Given the description of an element on the screen output the (x, y) to click on. 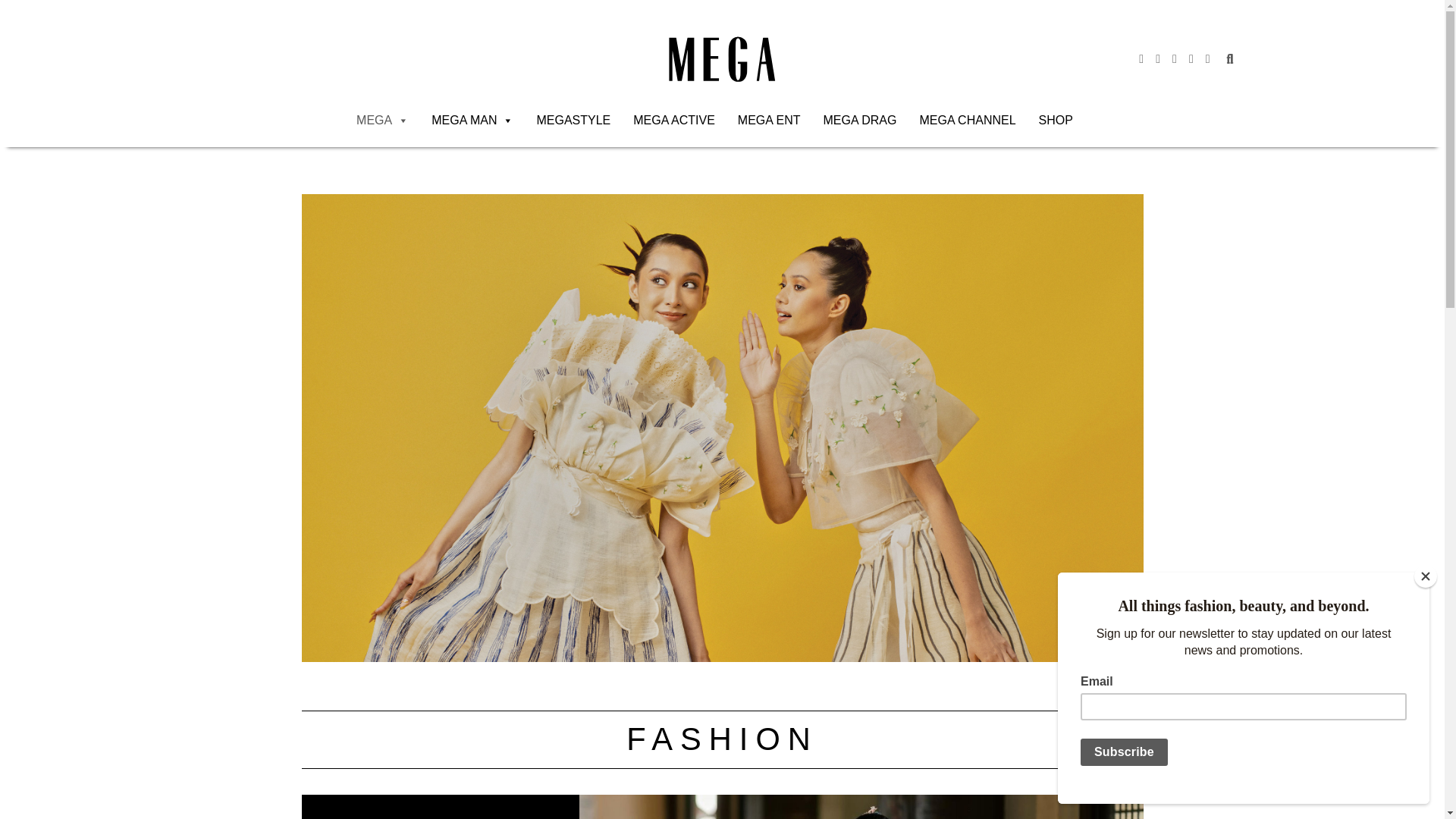
MEGA DRAG (860, 120)
MEGA CHANNEL (967, 120)
MEGA (382, 120)
MEGA ACTIVE (673, 120)
MEGA MAN (472, 120)
MEGASTYLE (573, 120)
MEGA ENT (769, 120)
